Given the description of an element on the screen output the (x, y) to click on. 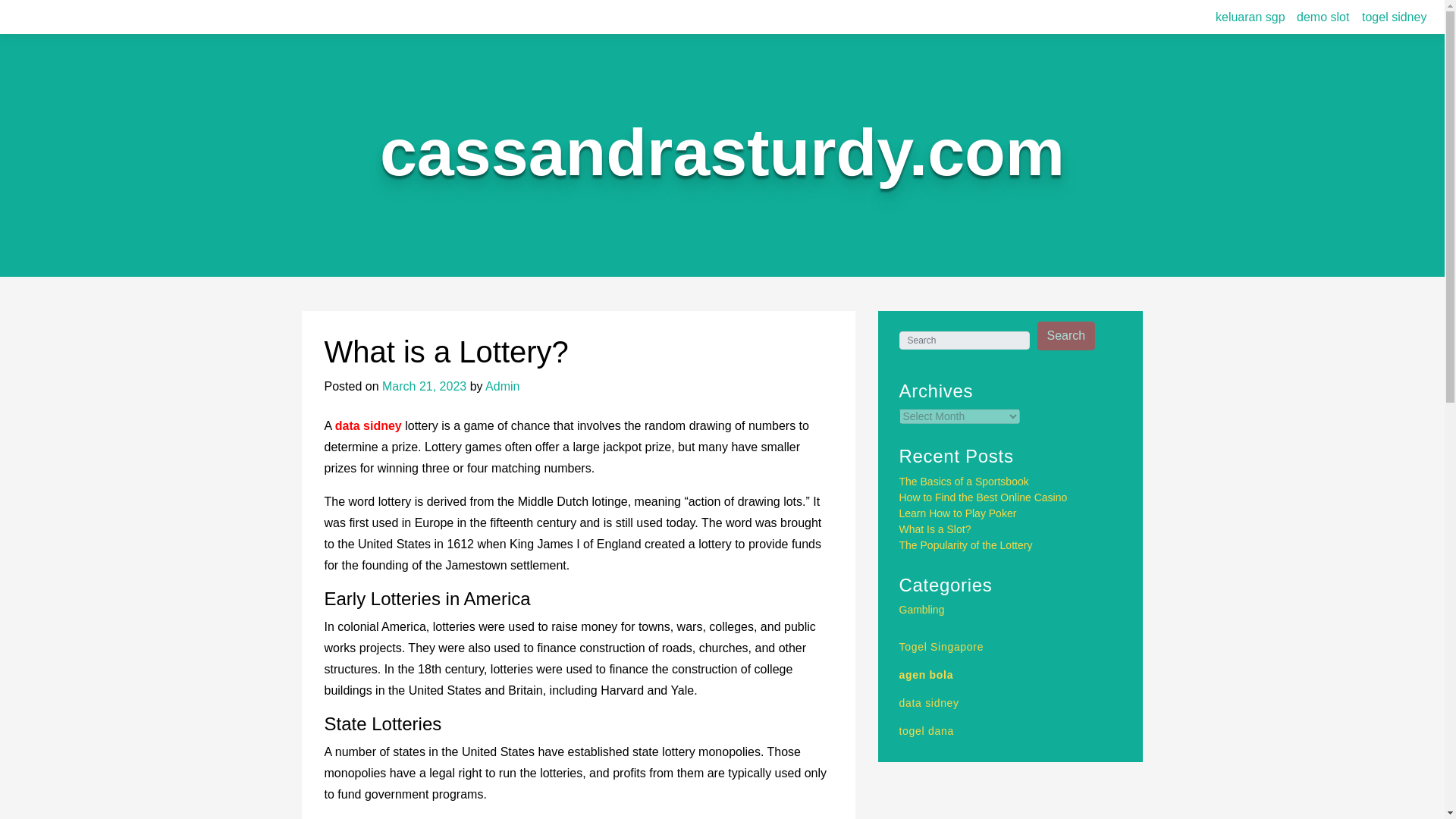
Search (1066, 335)
Gambling (921, 609)
Learn How to Play Poker (957, 512)
What Is a Slot? (935, 529)
Admin (501, 386)
The Popularity of the Lottery (965, 544)
demo slot (1322, 16)
demo slot (1322, 16)
How to Find the Best Online Casino (983, 497)
The Basics of a Sportsbook (964, 481)
